Given the description of an element on the screen output the (x, y) to click on. 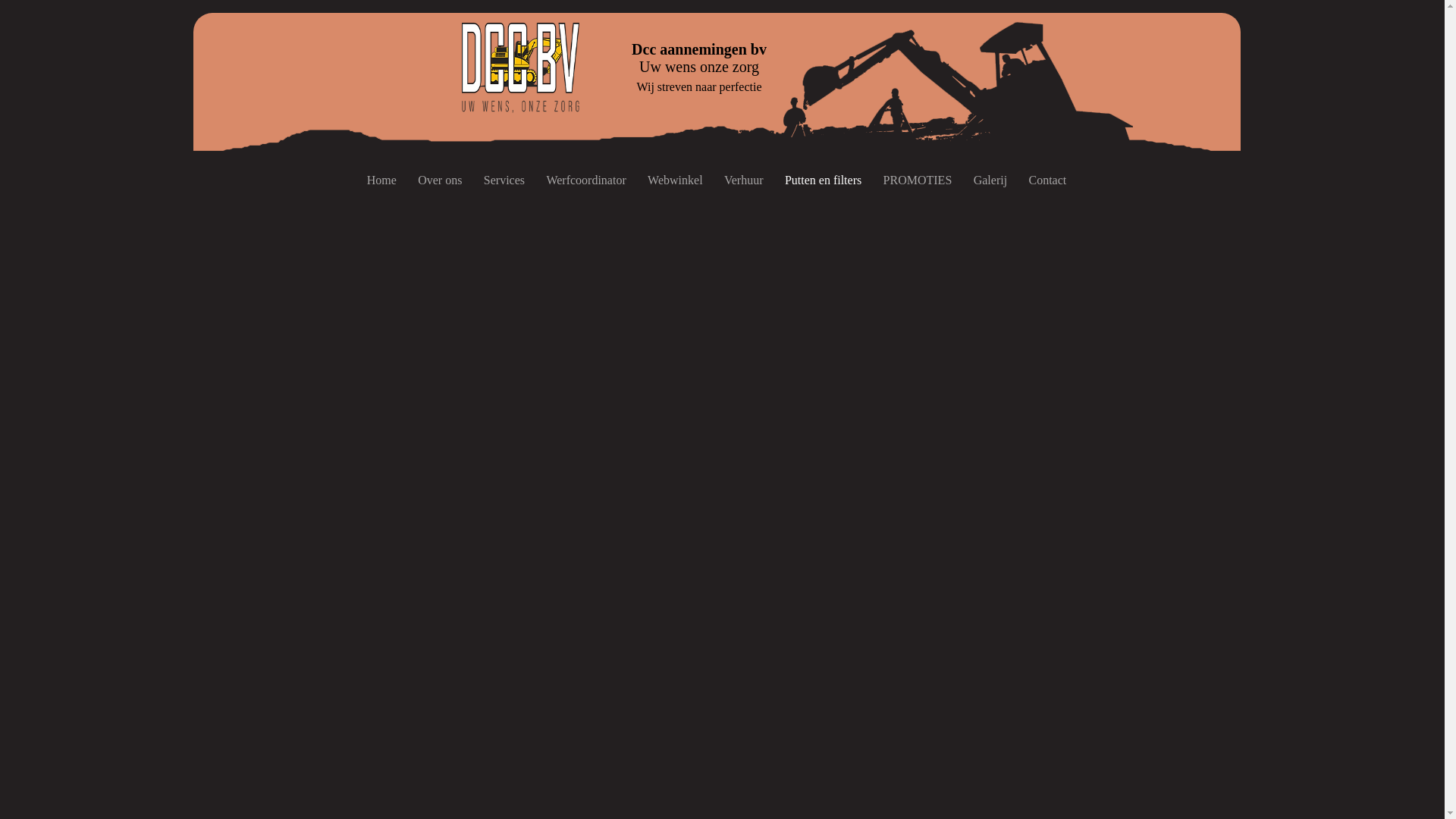
Home Element type: text (381, 180)
Contact Element type: text (1046, 180)
Galerij Element type: text (990, 180)
Verhuur Element type: text (743, 180)
PROMOTIES Element type: text (917, 180)
Putten en filters Element type: text (823, 180)
Over ons Element type: text (440, 180)
Webwinkel Element type: text (675, 180)
Services Element type: text (504, 180)
Werfcoordinator Element type: text (586, 180)
